Given the description of an element on the screen output the (x, y) to click on. 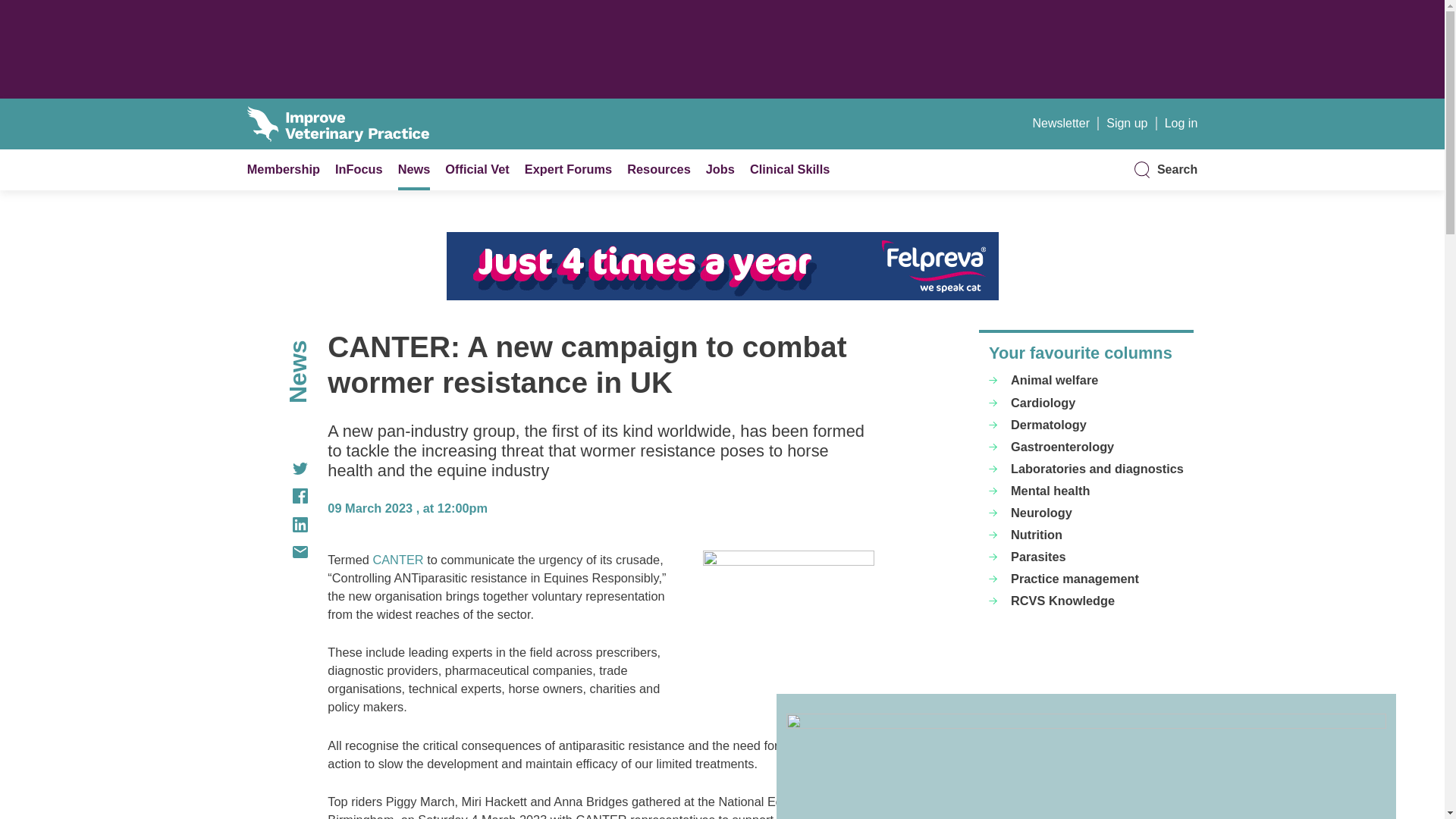
Clinical Skills (789, 169)
Expert Forums (567, 169)
Share on LinkedIn (277, 524)
Membership (283, 169)
News (413, 169)
CANTER (397, 559)
Jobs (720, 169)
Share on Facebook (277, 495)
InFocus (358, 169)
Share on Twitter (277, 468)
